Given the description of an element on the screen output the (x, y) to click on. 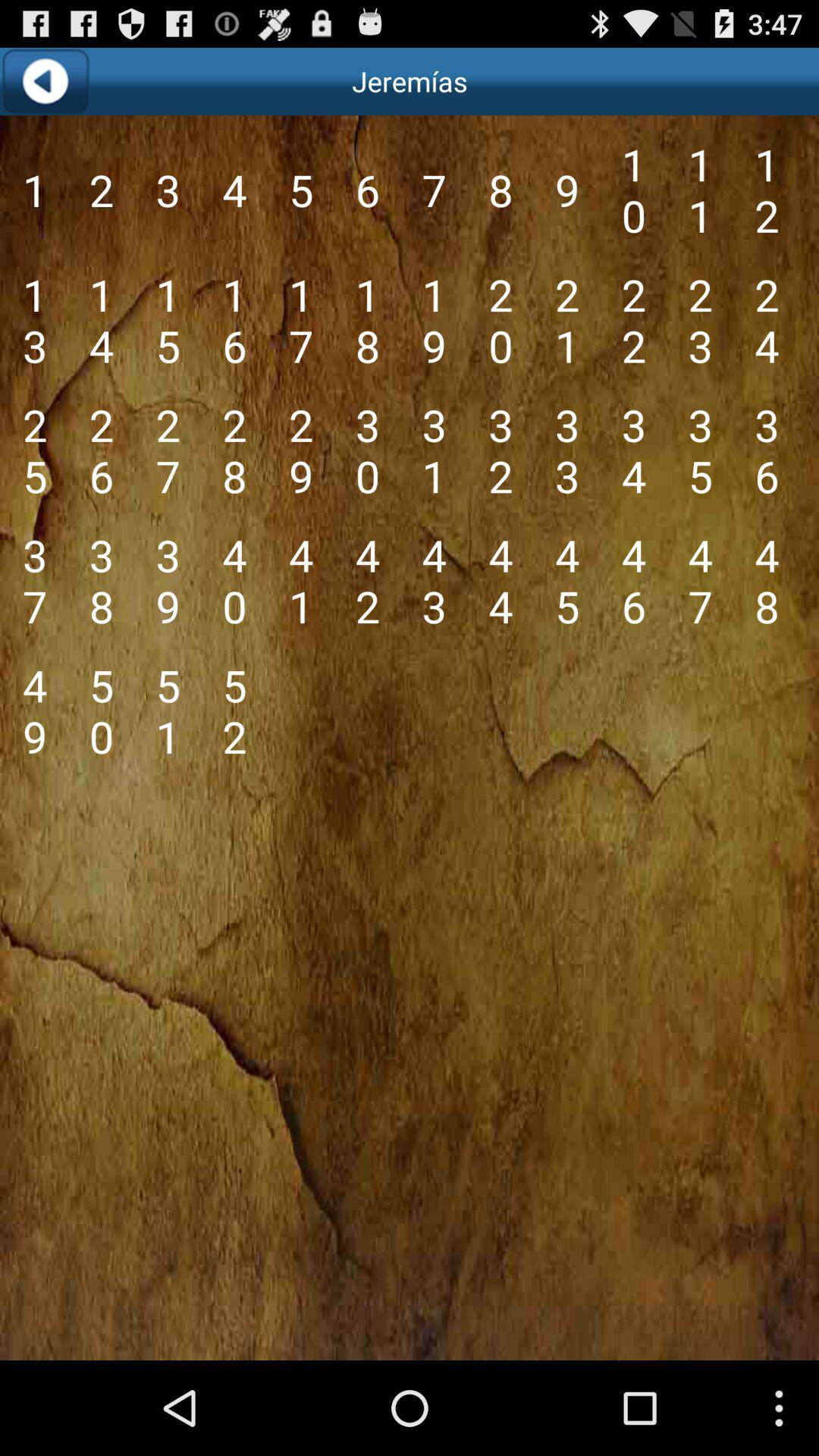
go back to previous stage (45, 81)
